Given the description of an element on the screen output the (x, y) to click on. 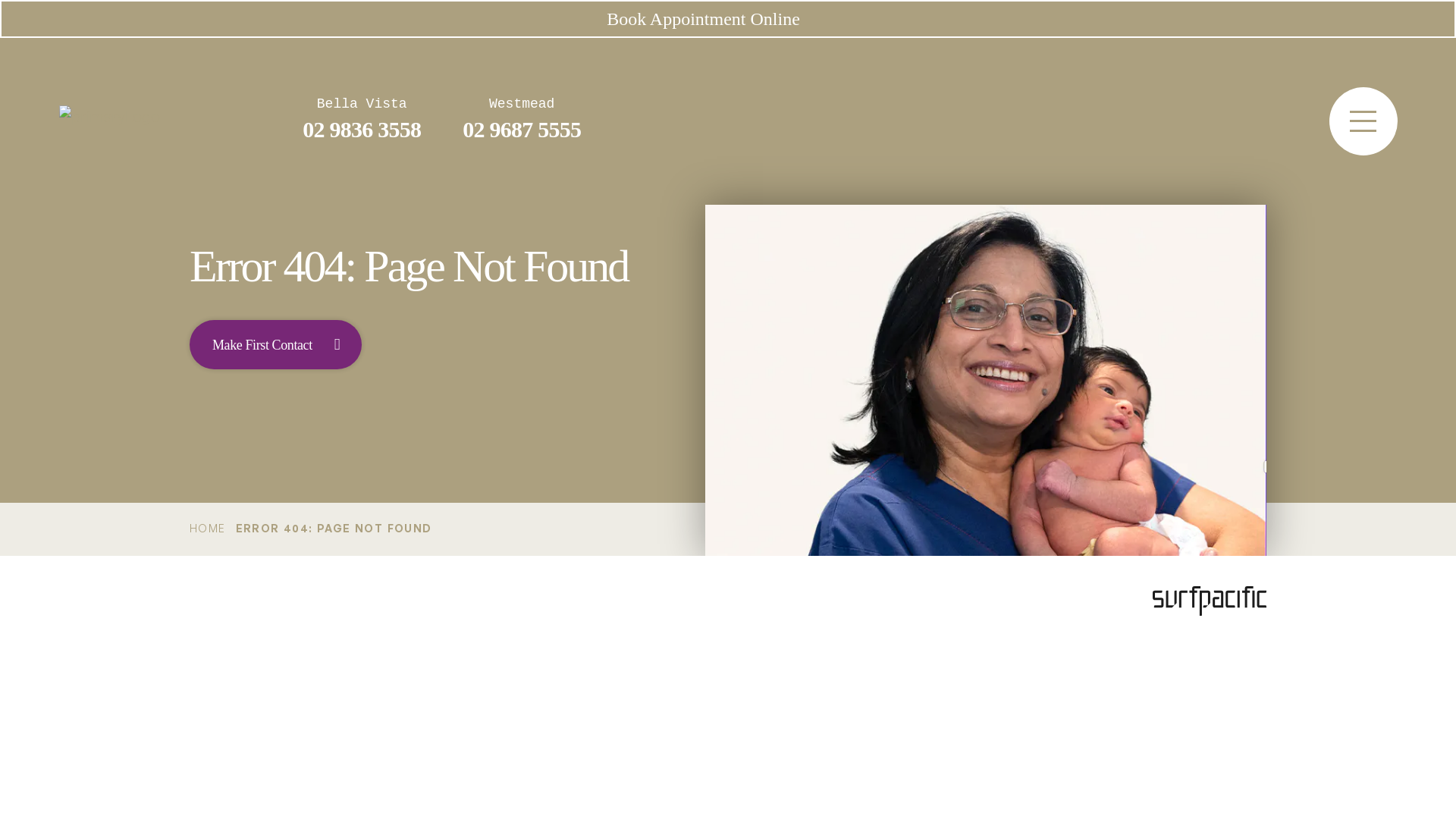
Make First Contact Element type: text (275, 344)
HOME Element type: text (207, 527)
02 9687 5555 Element type: text (521, 129)
02 9836 3558 Element type: text (361, 129)
